Given the description of an element on the screen output the (x, y) to click on. 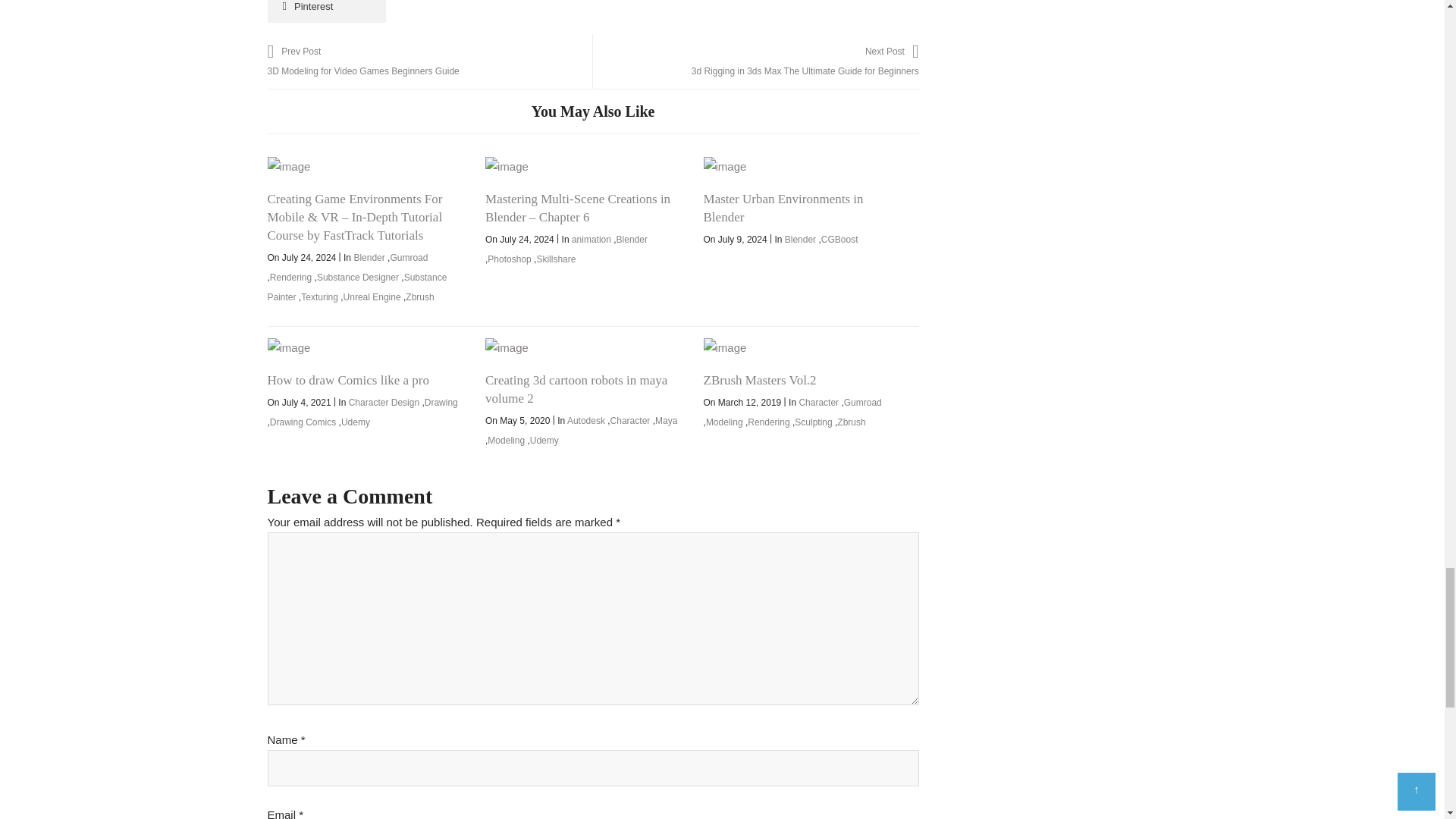
ZBrush Masters Vol.2 (724, 347)
Master Urban Environments in Blender (724, 165)
Creating 3d cartoon robots in maya volume 2 (506, 347)
How to draw Comics like a pro (288, 347)
